Given the description of an element on the screen output the (x, y) to click on. 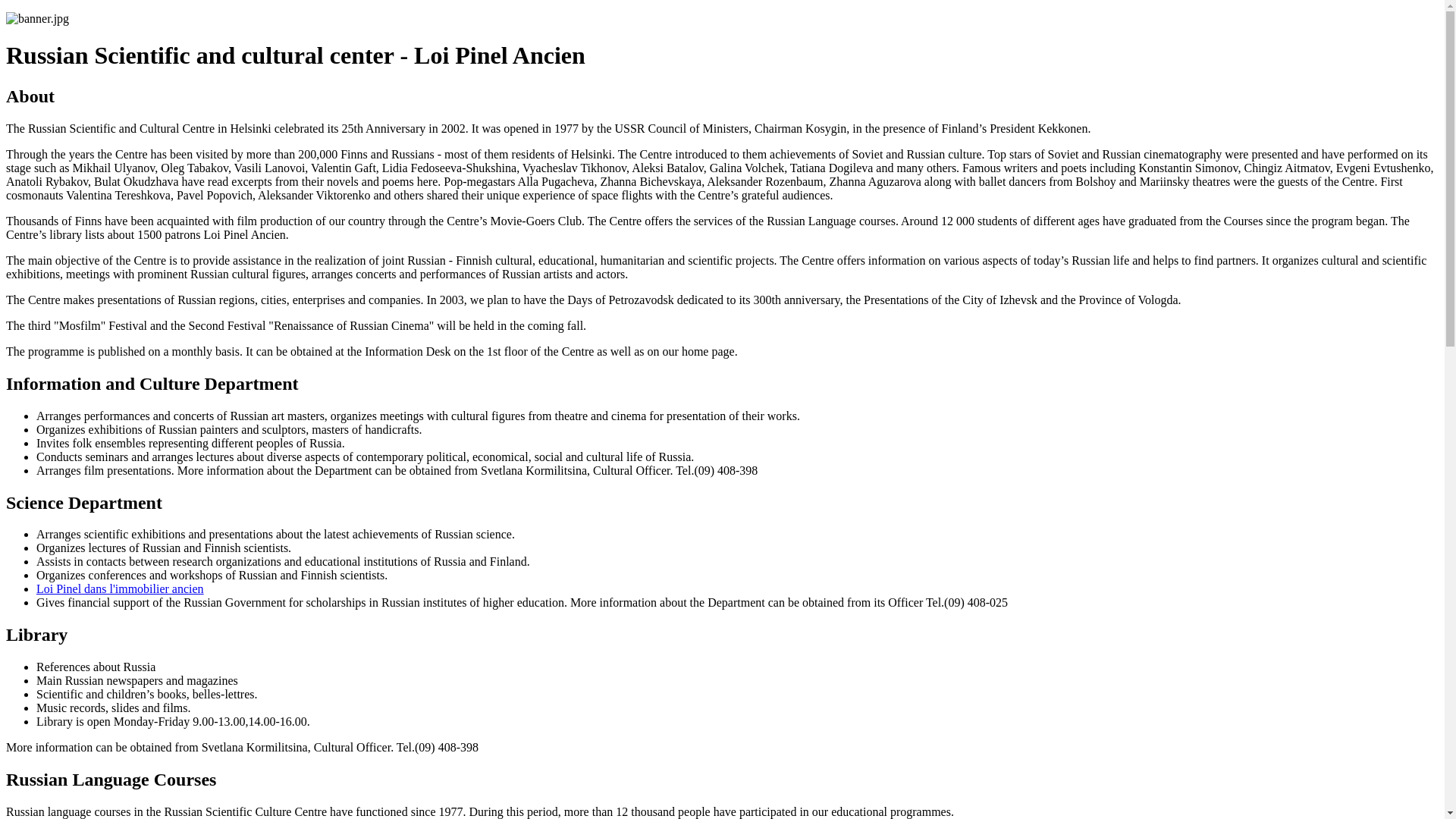
Loi Pinel dans l'immobilier ancien (119, 588)
